Given the description of an element on the screen output the (x, y) to click on. 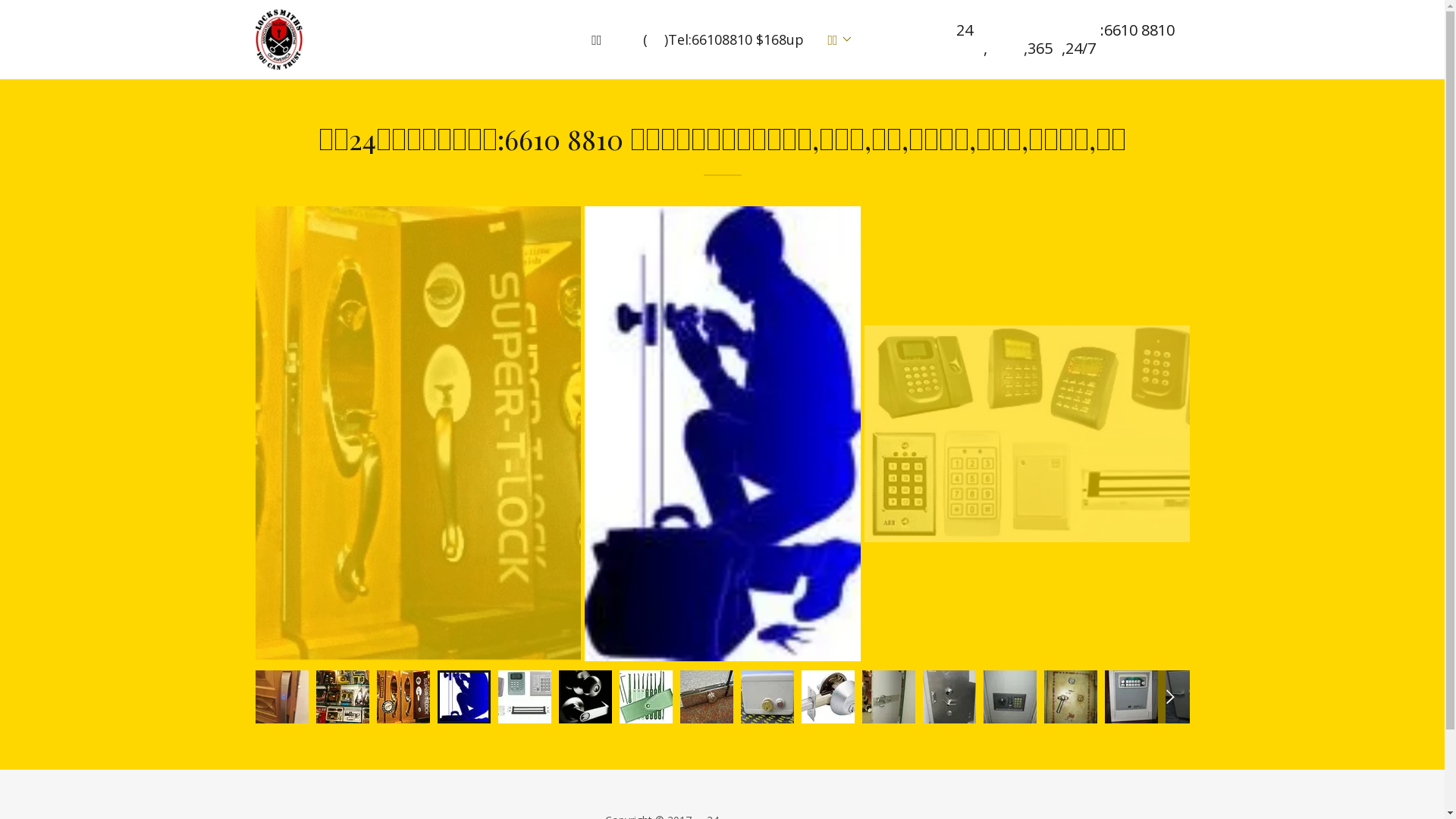
365 Element type: text (1038, 47)
6610 8810 Element type: text (1139, 29)
